Given the description of an element on the screen output the (x, y) to click on. 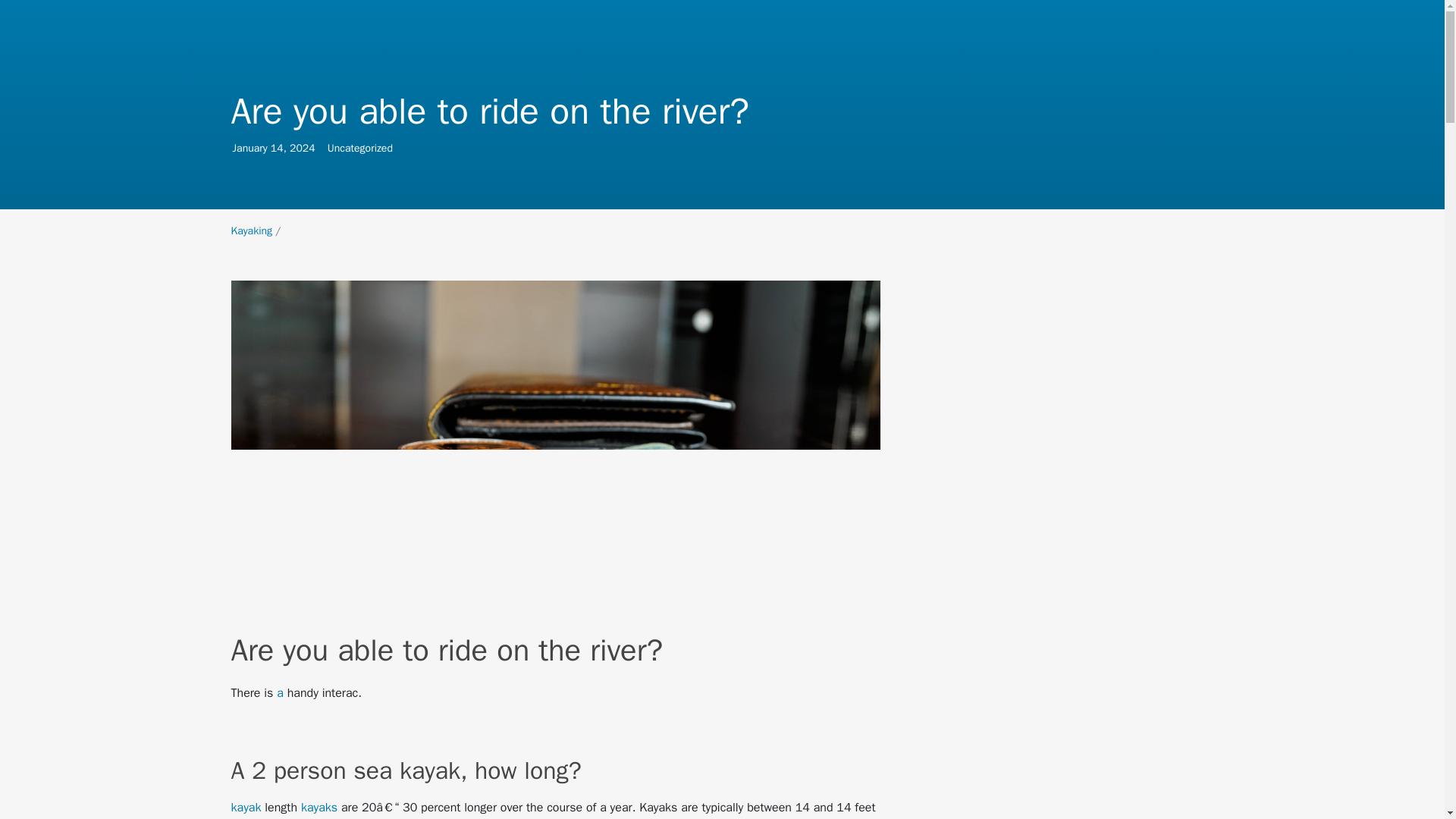
January (251, 230)
14 (248, 147)
kayaks (276, 147)
2024 (319, 807)
kayak (302, 147)
